Given the description of an element on the screen output the (x, y) to click on. 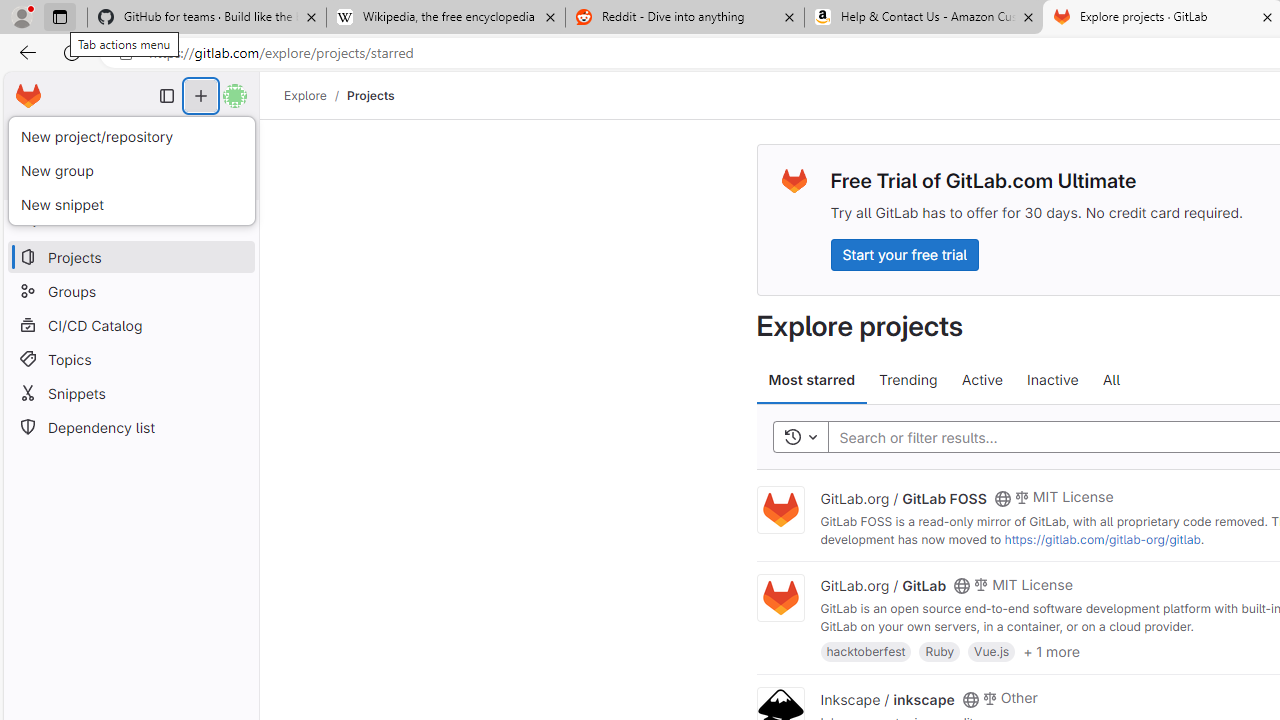
+ 1 more (1051, 650)
Class: s16 (970, 699)
Dependency list (130, 427)
Assigned issues 0 (50, 136)
hacktoberfest (866, 650)
Groups (130, 291)
Toggle history (800, 437)
Wikipedia, the free encyclopedia (445, 17)
Merge requests 0 (131, 136)
Homepage (27, 96)
All (1111, 379)
https://gitlab.com/gitlab-org/gitlab (1101, 539)
